Given the description of an element on the screen output the (x, y) to click on. 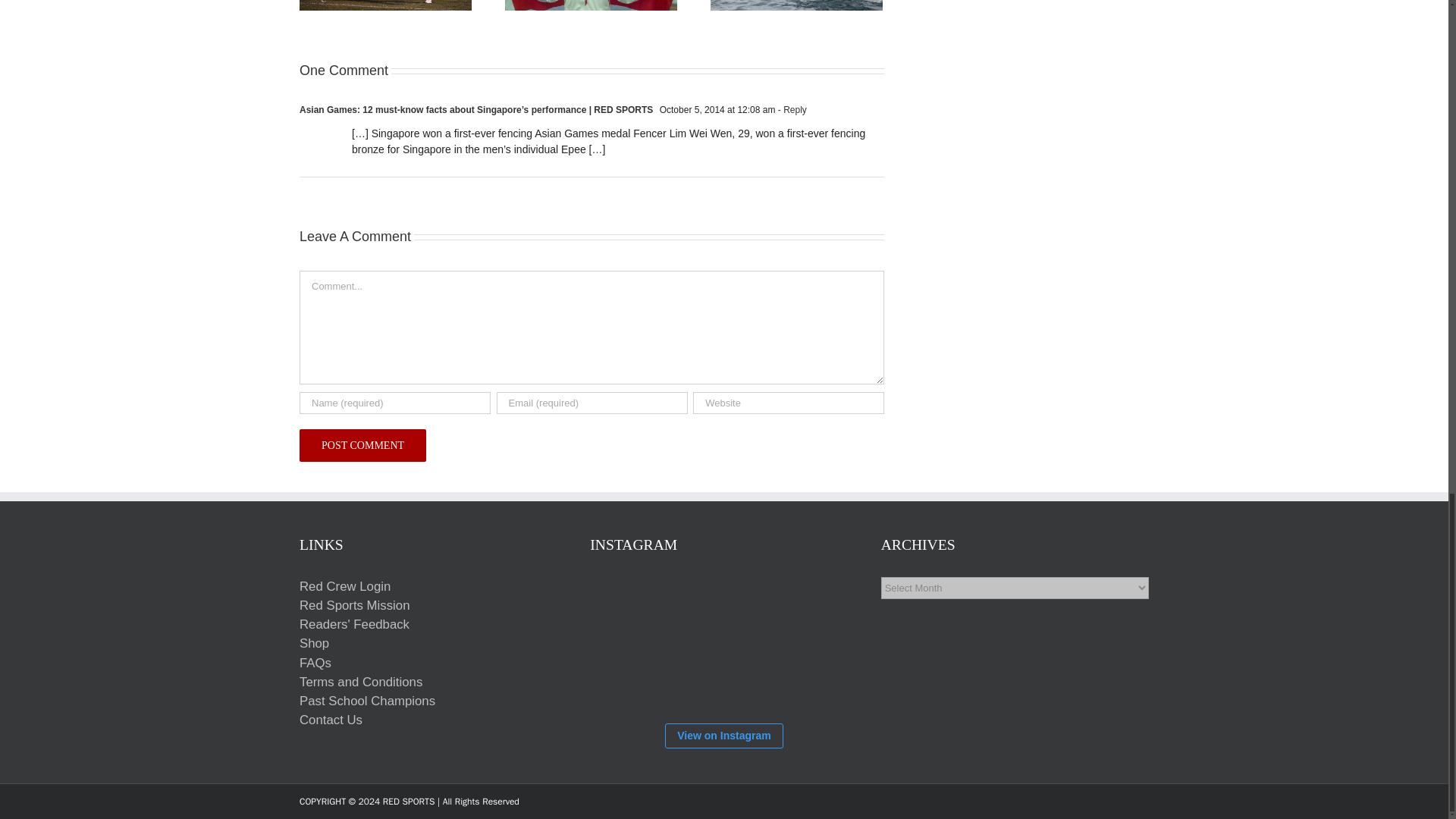
Post Comment (362, 445)
